Given the description of an element on the screen output the (x, y) to click on. 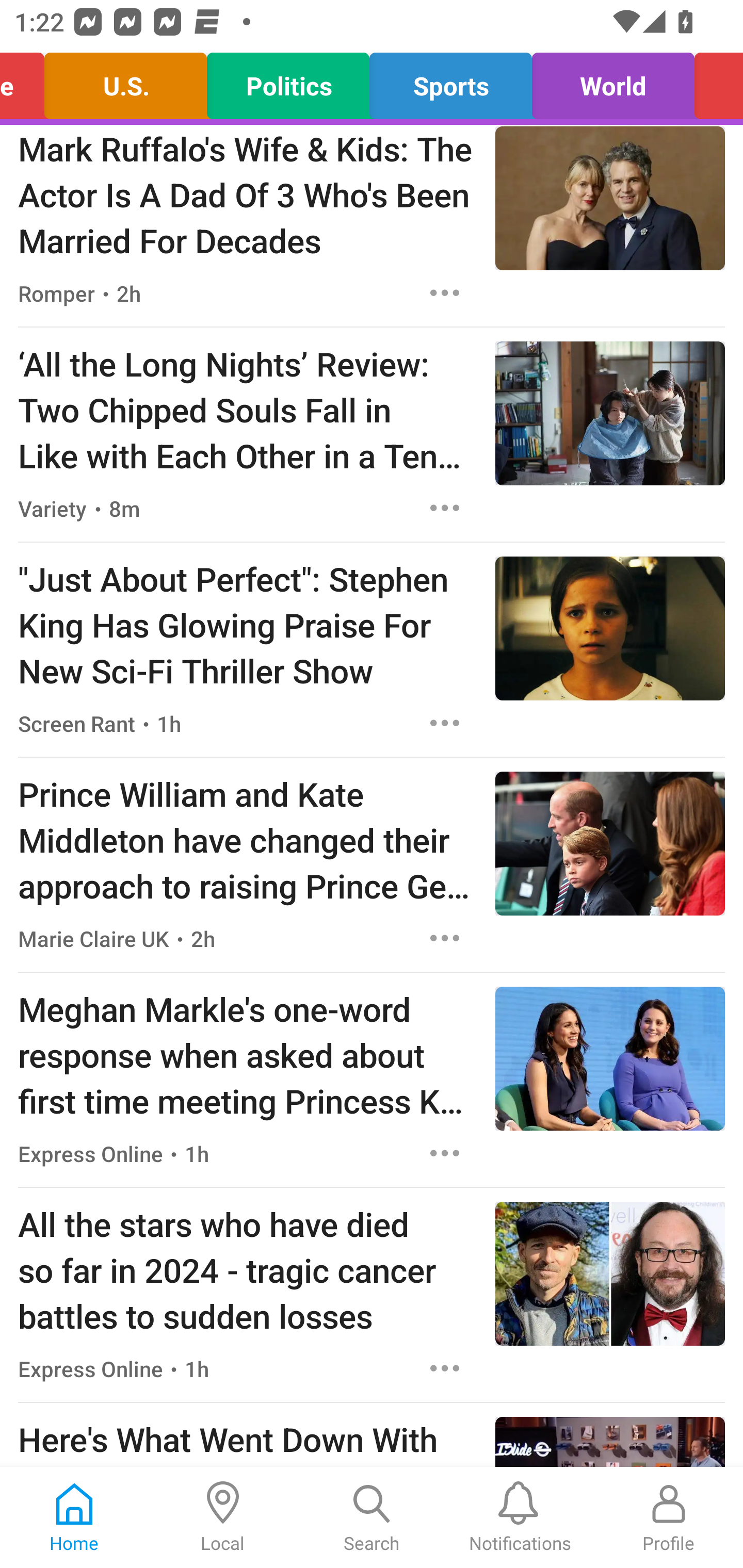
U.S. (125, 81)
Politics (288, 81)
Sports (450, 81)
World (612, 81)
Options (444, 293)
Options (444, 507)
Options (444, 722)
Options (444, 938)
Options (444, 1153)
Options (444, 1368)
Local (222, 1517)
Search (371, 1517)
Notifications (519, 1517)
Profile (668, 1517)
